Given the description of an element on the screen output the (x, y) to click on. 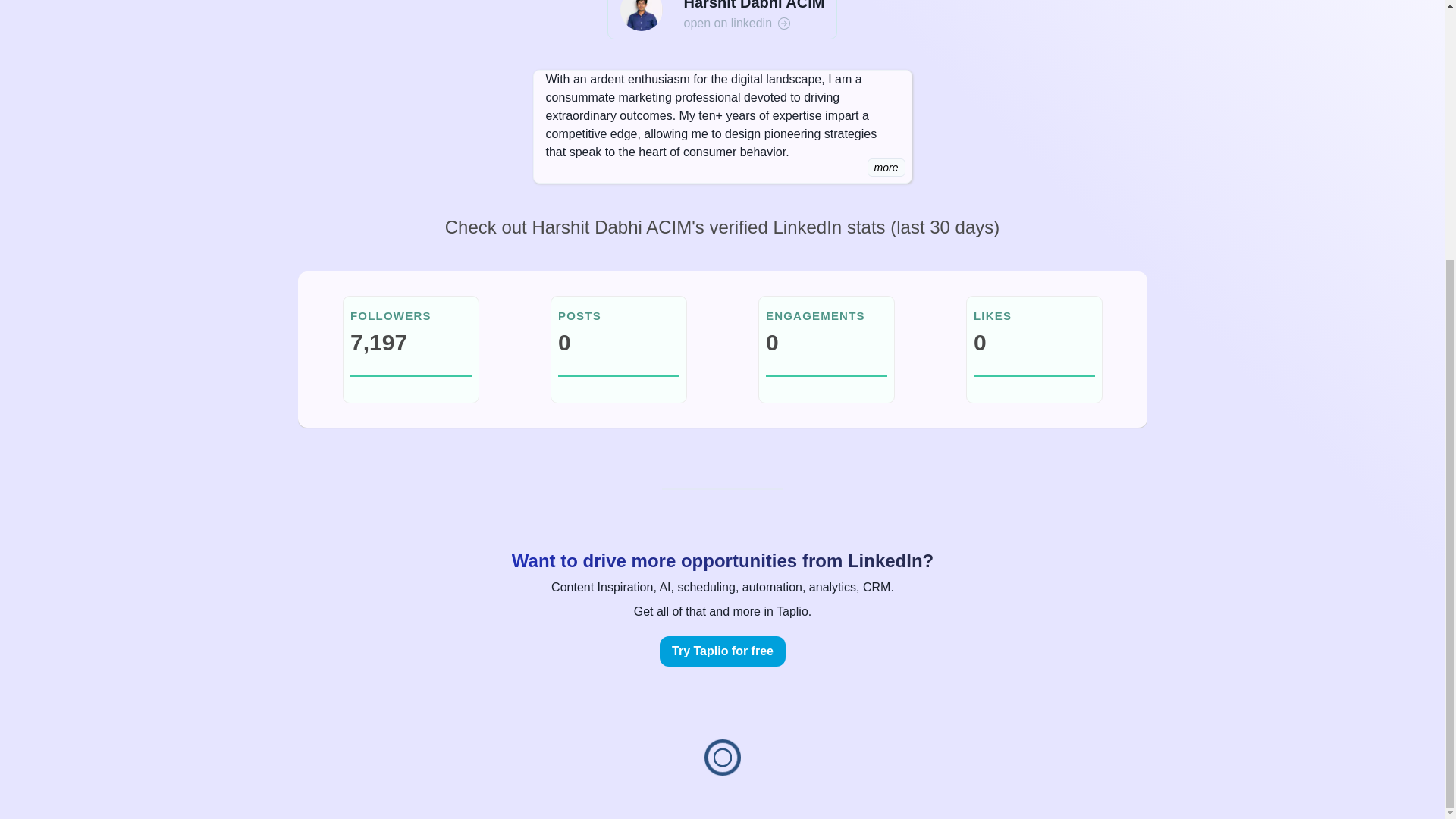
Try Taplio for free (722, 650)
more (886, 167)
open on linkedin (754, 23)
